Given the description of an element on the screen output the (x, y) to click on. 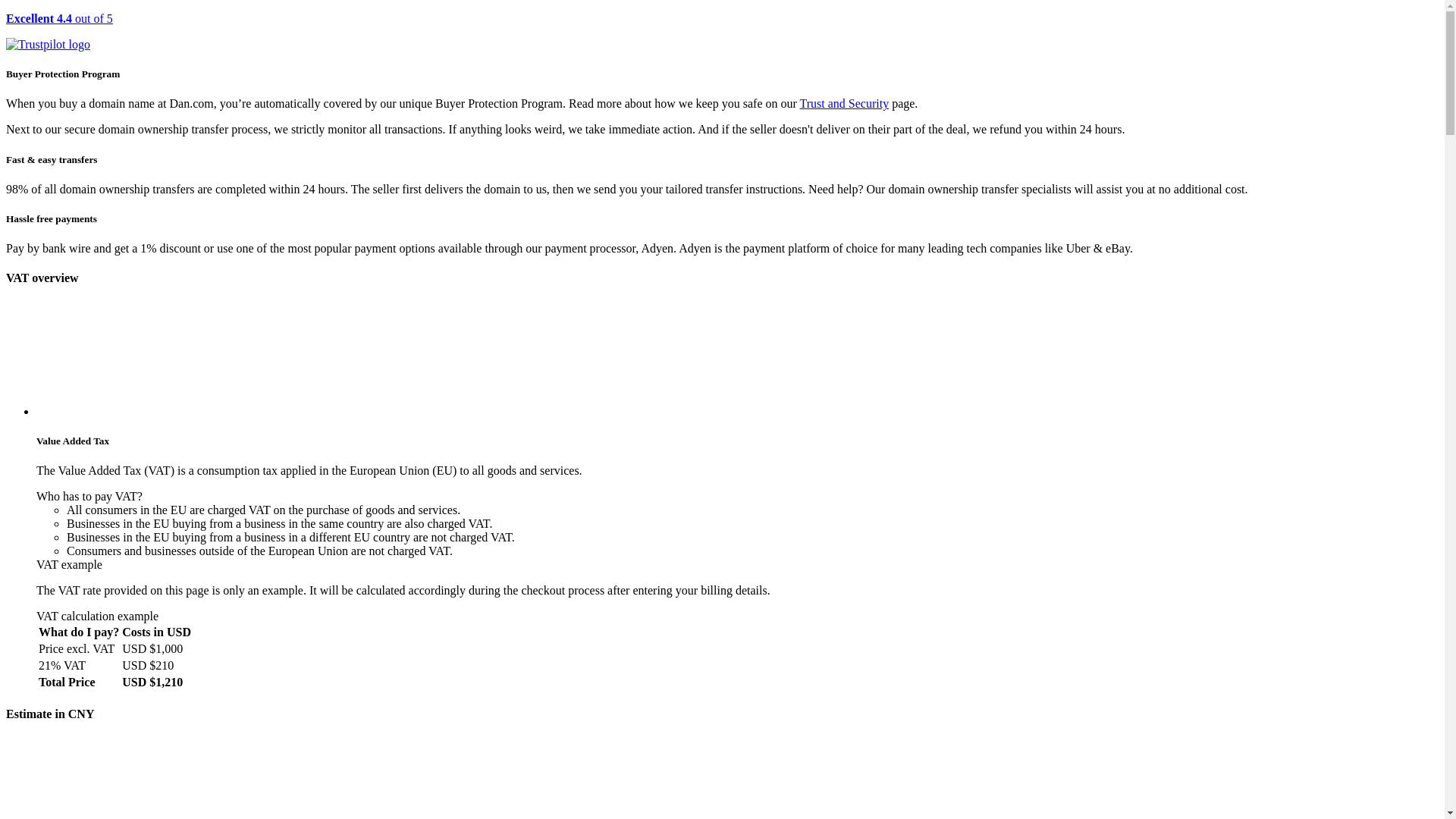
Trust and Security Element type: text (844, 103)
Excellent 4.4 out of 5 Element type: text (722, 31)
